Given the description of an element on the screen output the (x, y) to click on. 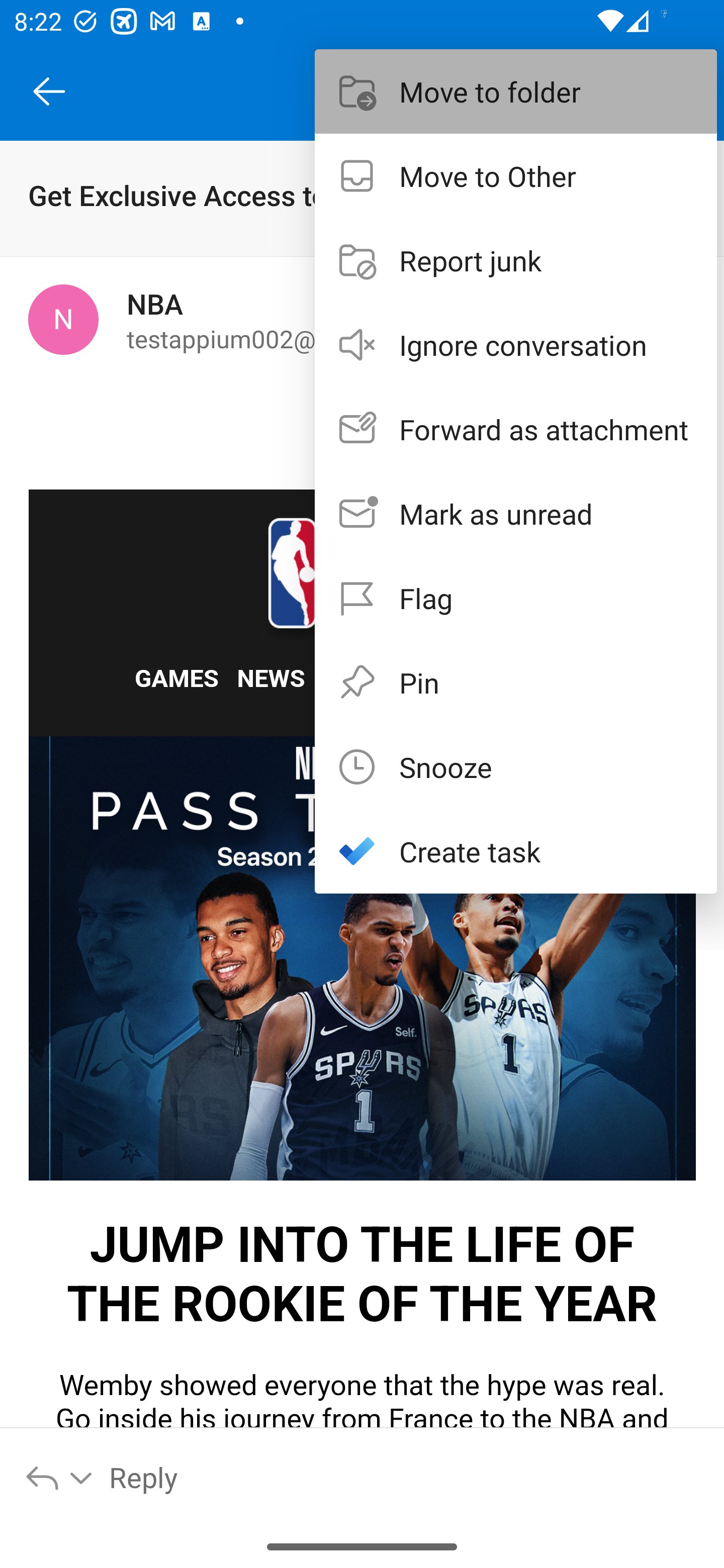
Move to folder (515, 90)
Move to Other (515, 175)
Report junk (515, 259)
Ignore conversation (515, 344)
Forward as attachment (515, 429)
Mark as unread (515, 513)
Flag (515, 597)
Pin (515, 681)
Snooze (515, 766)
Create task (515, 851)
